Given the description of an element on the screen output the (x, y) to click on. 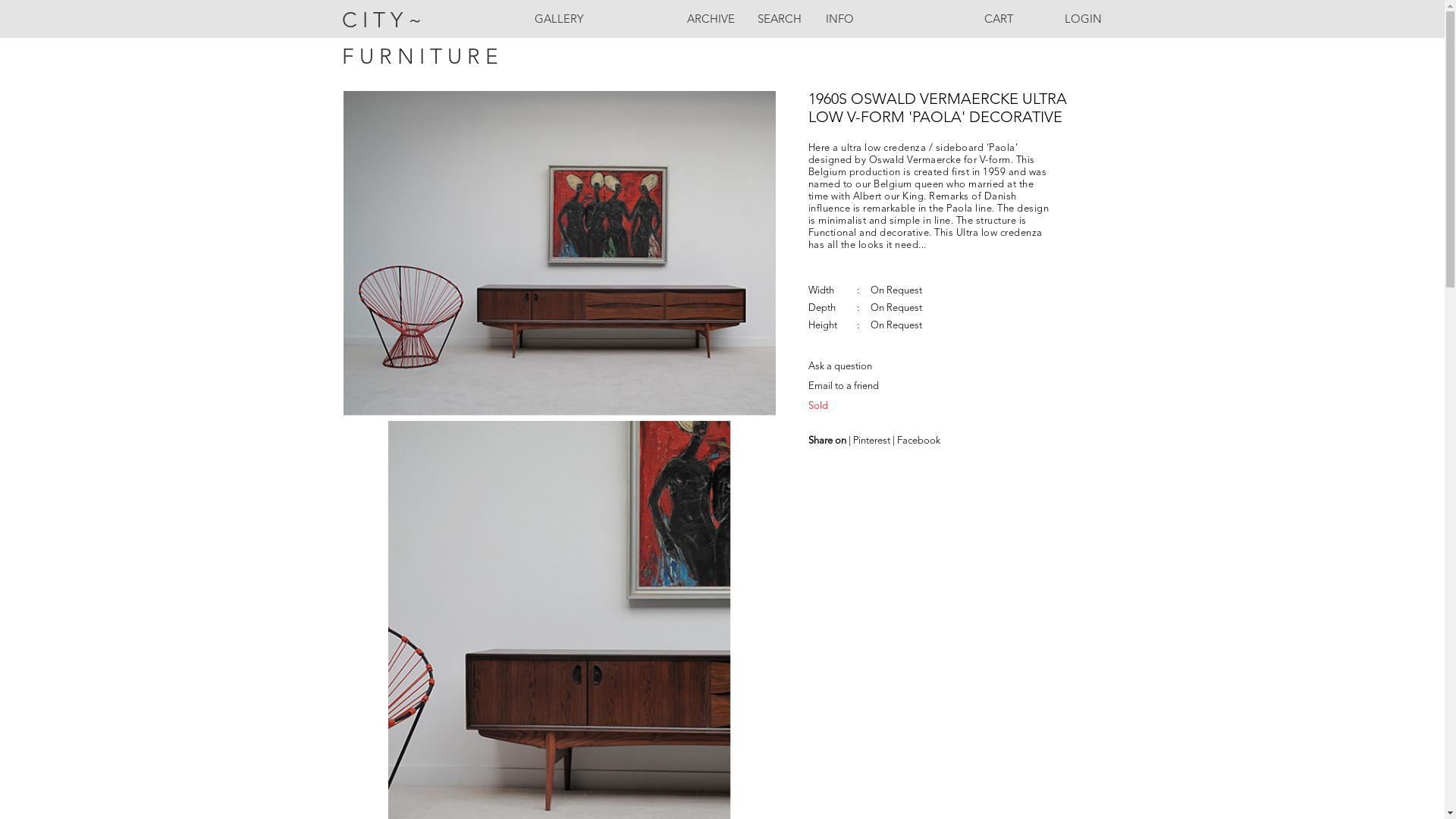
CART Element type: text (998, 30)
Pinterest Element type: text (871, 440)
Email to a friend Element type: text (843, 386)
ARCHIVE Element type: text (710, 30)
LOGIN Element type: text (1066, 30)
C I T Y ~
F U R N I T U R E Element type: text (432, 25)
GALLERY Element type: text (558, 30)
Ask a question Element type: text (840, 366)
INFO Element type: text (839, 30)
Facebook Element type: text (917, 440)
SEARCH Element type: text (778, 30)
